Given the description of an element on the screen output the (x, y) to click on. 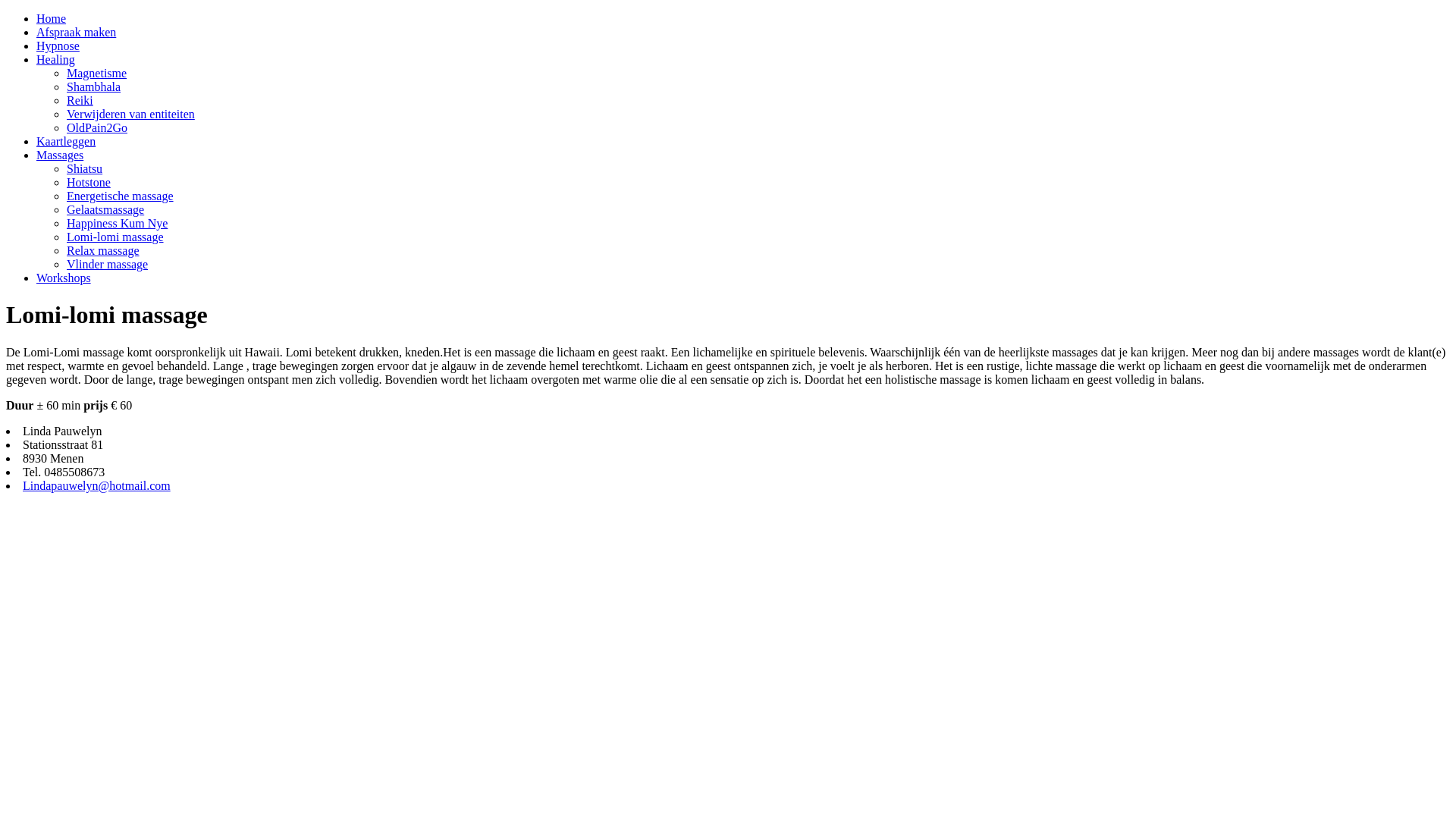
Workshops Element type: text (63, 277)
Relax massage Element type: text (102, 250)
OldPain2Go Element type: text (96, 127)
Happiness Kum Nye Element type: text (116, 222)
Magnetisme Element type: text (96, 72)
Healing Element type: text (55, 59)
Hypnose Element type: text (57, 45)
Shiatsu Element type: text (84, 168)
Hotstone Element type: text (88, 181)
Home Element type: text (50, 18)
Shambhala Element type: text (93, 86)
Verwijderen van entiteiten Element type: text (130, 113)
Afspraak maken Element type: text (76, 31)
Lindapauwelyn@hotmail.com Element type: text (96, 485)
Reiki Element type: text (79, 100)
Energetische massage Element type: text (119, 195)
Vlinder massage Element type: text (106, 263)
Massages Element type: text (59, 154)
Kaartleggen Element type: text (65, 140)
Lomi-lomi massage Element type: text (114, 236)
Gelaatsmassage Element type: text (105, 209)
